Given the description of an element on the screen output the (x, y) to click on. 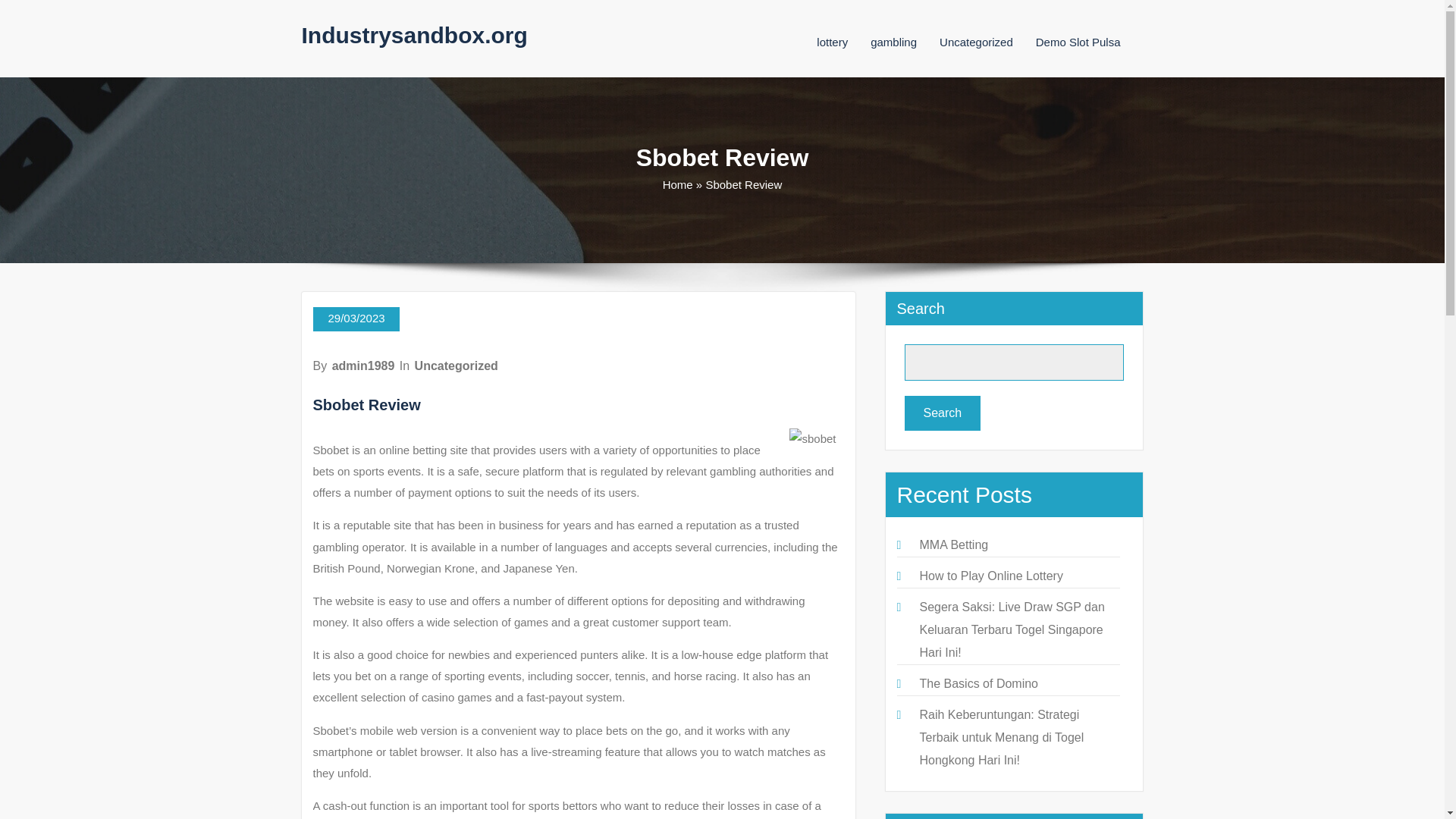
Industrysandbox.org (414, 34)
lottery (831, 41)
Search (941, 412)
Demo Slot Pulsa (1078, 41)
Uncategorized (456, 365)
admin1989 (363, 365)
Uncategorized (976, 41)
gambling (893, 41)
The Basics of Domino (978, 683)
Home (677, 184)
MMA Betting (953, 544)
How to Play Online Lottery (990, 575)
